Given the description of an element on the screen output the (x, y) to click on. 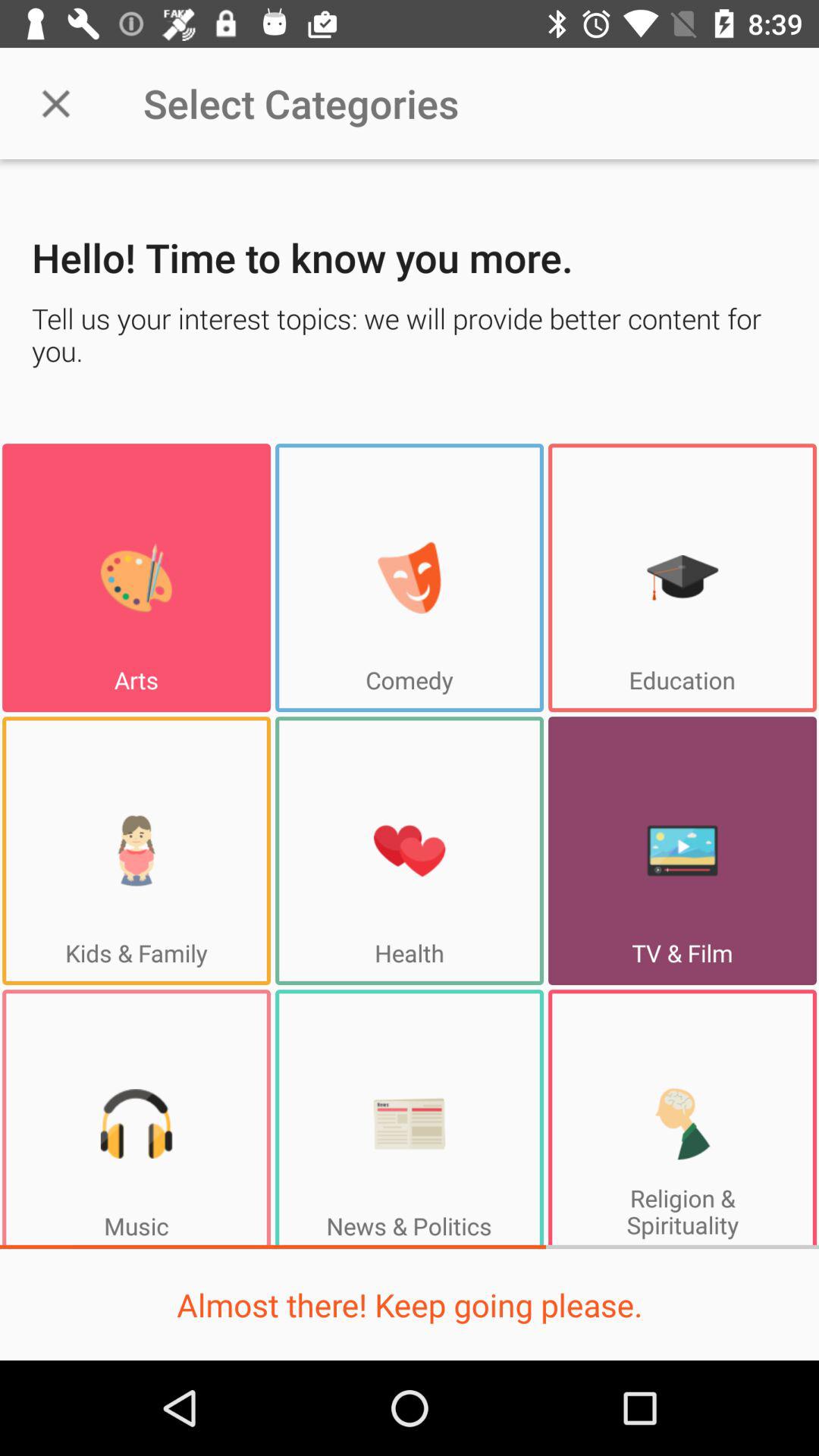
select the icon at the top left corner (55, 103)
